Given the description of an element on the screen output the (x, y) to click on. 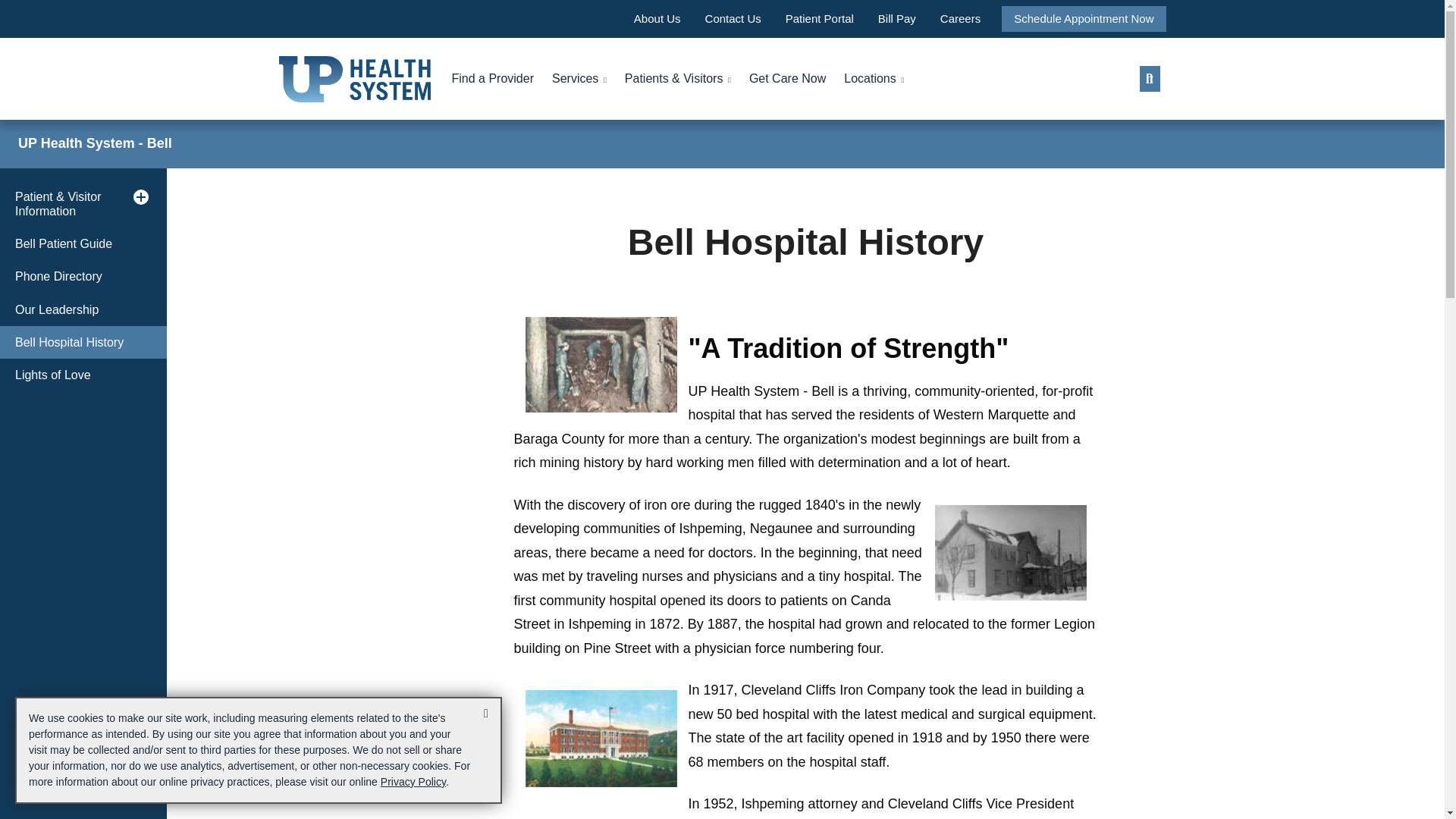
Services (579, 78)
Contact Us (732, 18)
Toggle menu (140, 196)
Bill Pay (896, 18)
Schedule Appointment Now (1083, 18)
Patient Portal (820, 18)
Find a Provider (492, 78)
About Us (657, 18)
Careers (960, 18)
